Given the description of an element on the screen output the (x, y) to click on. 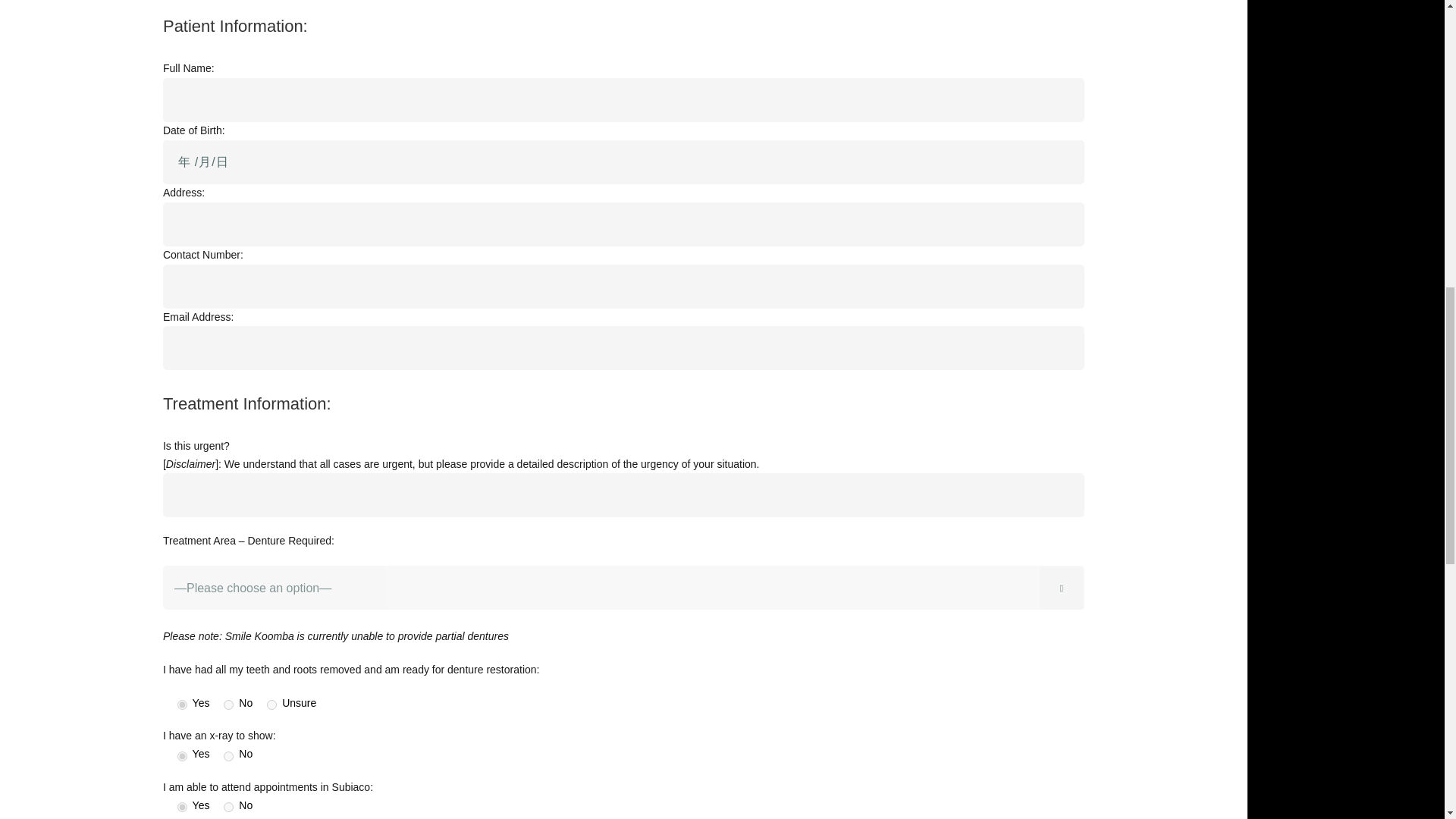
Yes (182, 705)
Yes (182, 756)
No (228, 705)
No (228, 756)
Unsure (271, 705)
